Given the description of an element on the screen output the (x, y) to click on. 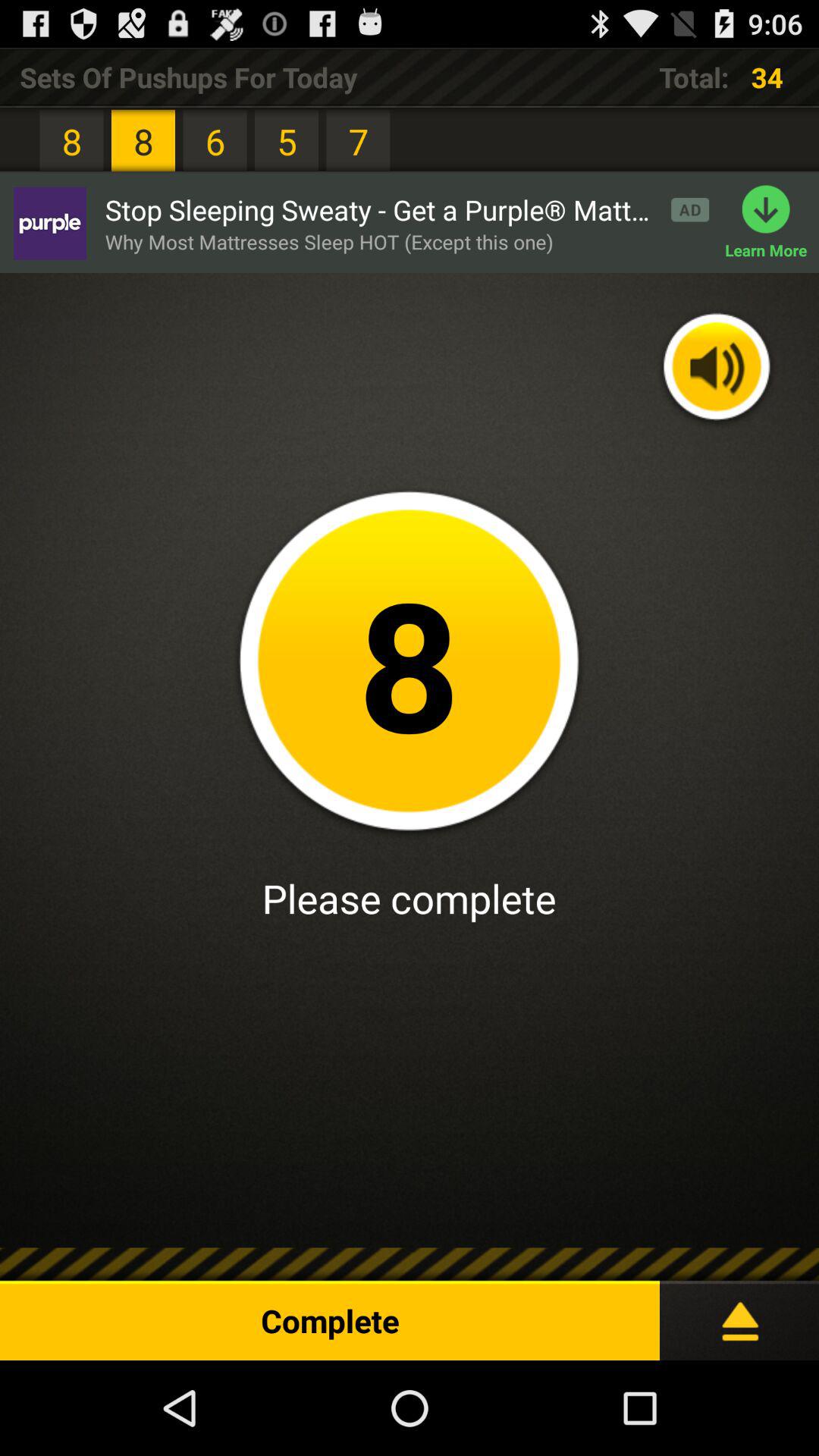
volume up (716, 368)
